Given the description of an element on the screen output the (x, y) to click on. 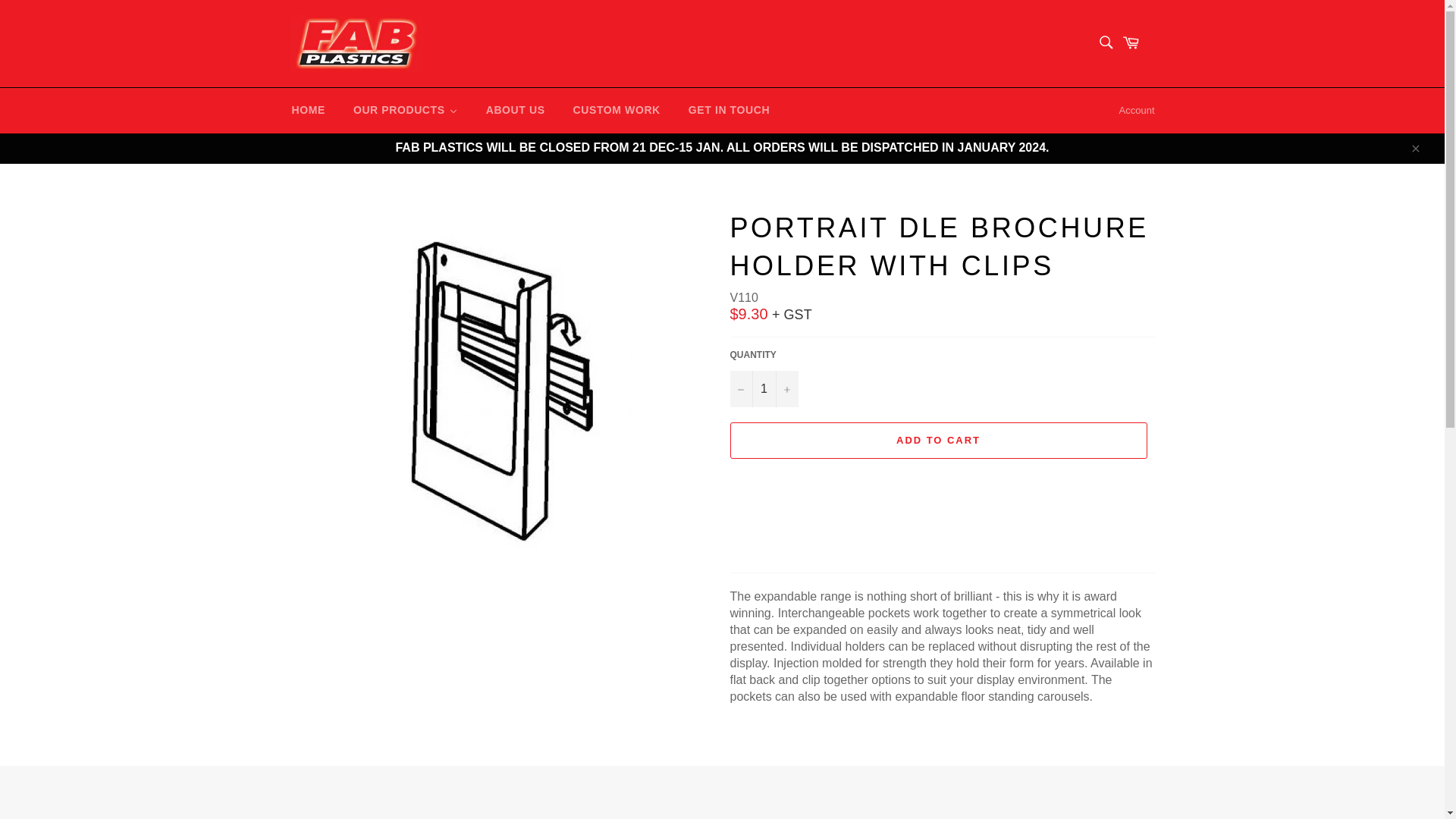
Account (1136, 110)
HOME (305, 110)
GET IN TOUCH (725, 110)
OUR PRODUCTS (402, 110)
Search (1104, 42)
CUSTOM WORK (613, 110)
Close (1414, 147)
Home (305, 110)
ABOUT US (512, 110)
Custom Work (613, 110)
Cart (1138, 43)
1 (763, 389)
Get in Touch (725, 110)
ADD TO CART (938, 440)
Our Products (402, 110)
